Given the description of an element on the screen output the (x, y) to click on. 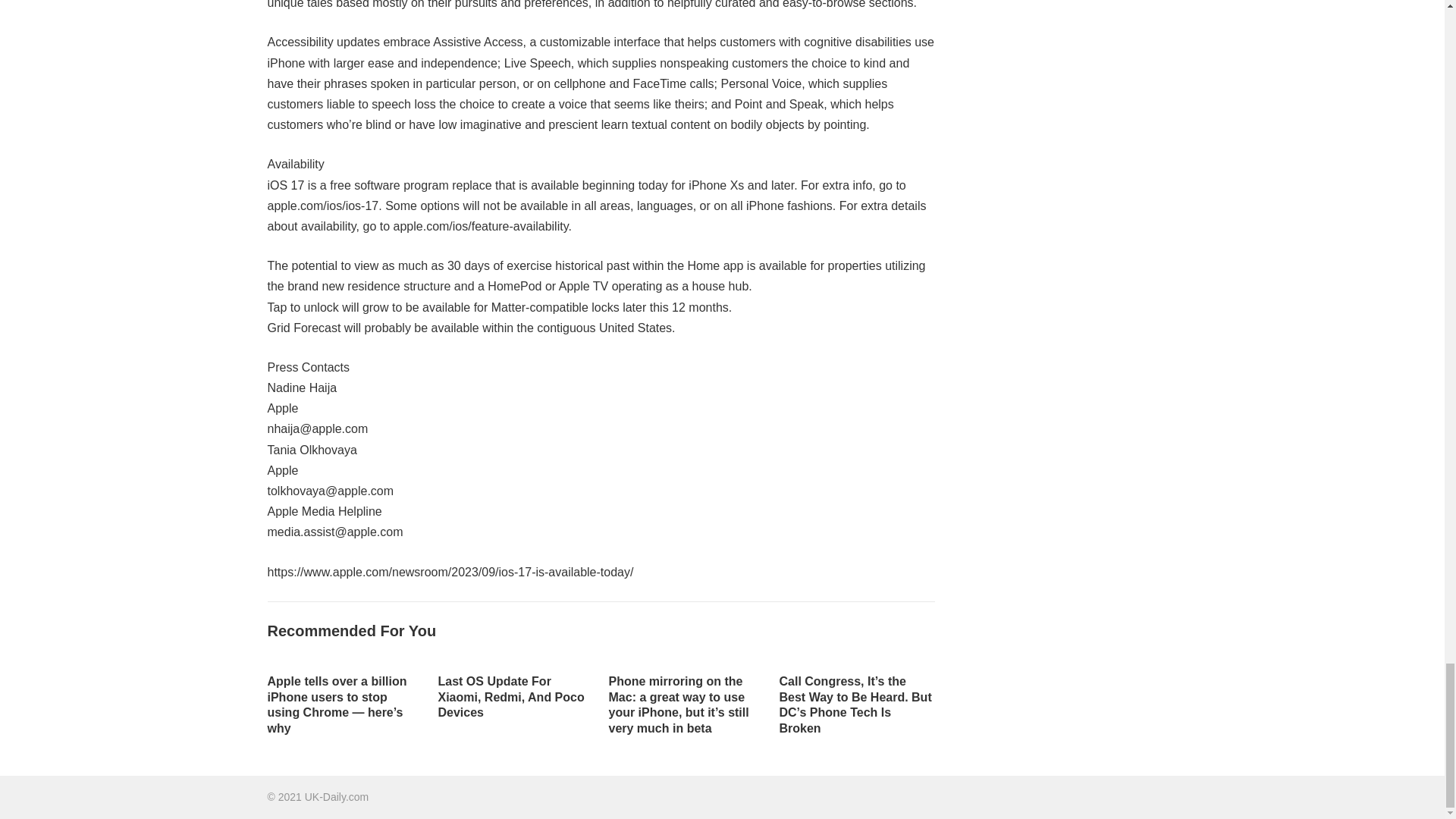
Last OS Update For Xiaomi, Redmi, And Poco Devices (511, 696)
